Given the description of an element on the screen output the (x, y) to click on. 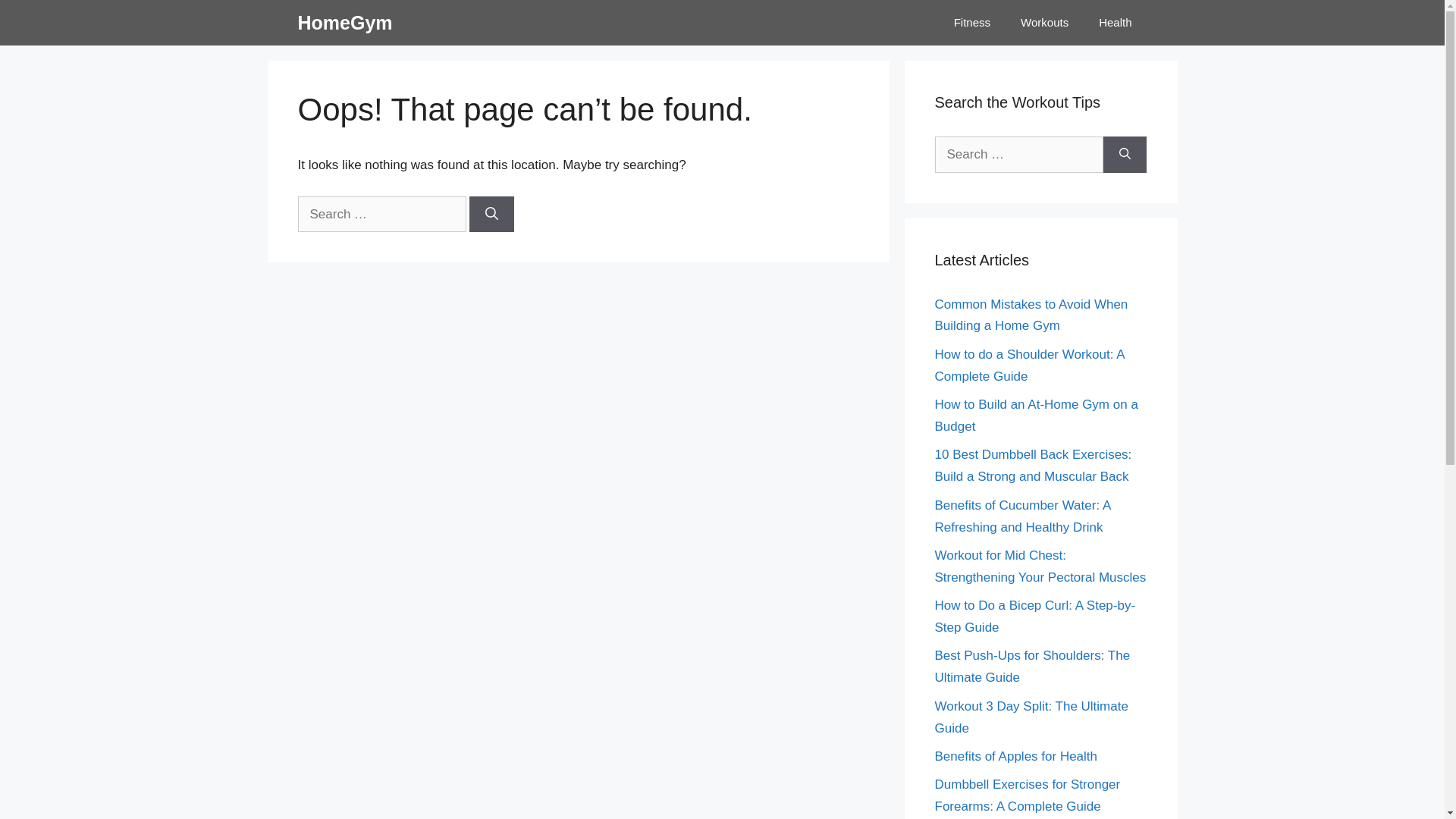
Dumbbell Exercises for Stronger Forearms: A Complete Guide Element type: text (1027, 795)
How to Do a Bicep Curl: A Step-by-Step Guide Element type: text (1034, 616)
Benefits of Apples for Health Element type: text (1015, 756)
Best Push-Ups for Shoulders: The Ultimate Guide Element type: text (1031, 666)
Search for: Element type: hover (1018, 154)
Search for: Element type: hover (381, 214)
Common Mistakes to Avoid When Building a Home Gym Element type: text (1030, 315)
HomeGym Element type: text (344, 22)
Workout for Mid Chest: Strengthening Your Pectoral Muscles Element type: text (1039, 566)
Fitness Element type: text (971, 22)
Health Element type: text (1114, 22)
How to Build an At-Home Gym on a Budget Element type: text (1035, 415)
Workout 3 Day Split: The Ultimate Guide Element type: text (1030, 717)
Benefits of Cucumber Water: A Refreshing and Healthy Drink Element type: text (1022, 516)
How to do a Shoulder Workout: A Complete Guide Element type: text (1028, 365)
Workouts Element type: text (1044, 22)
